Given the description of an element on the screen output the (x, y) to click on. 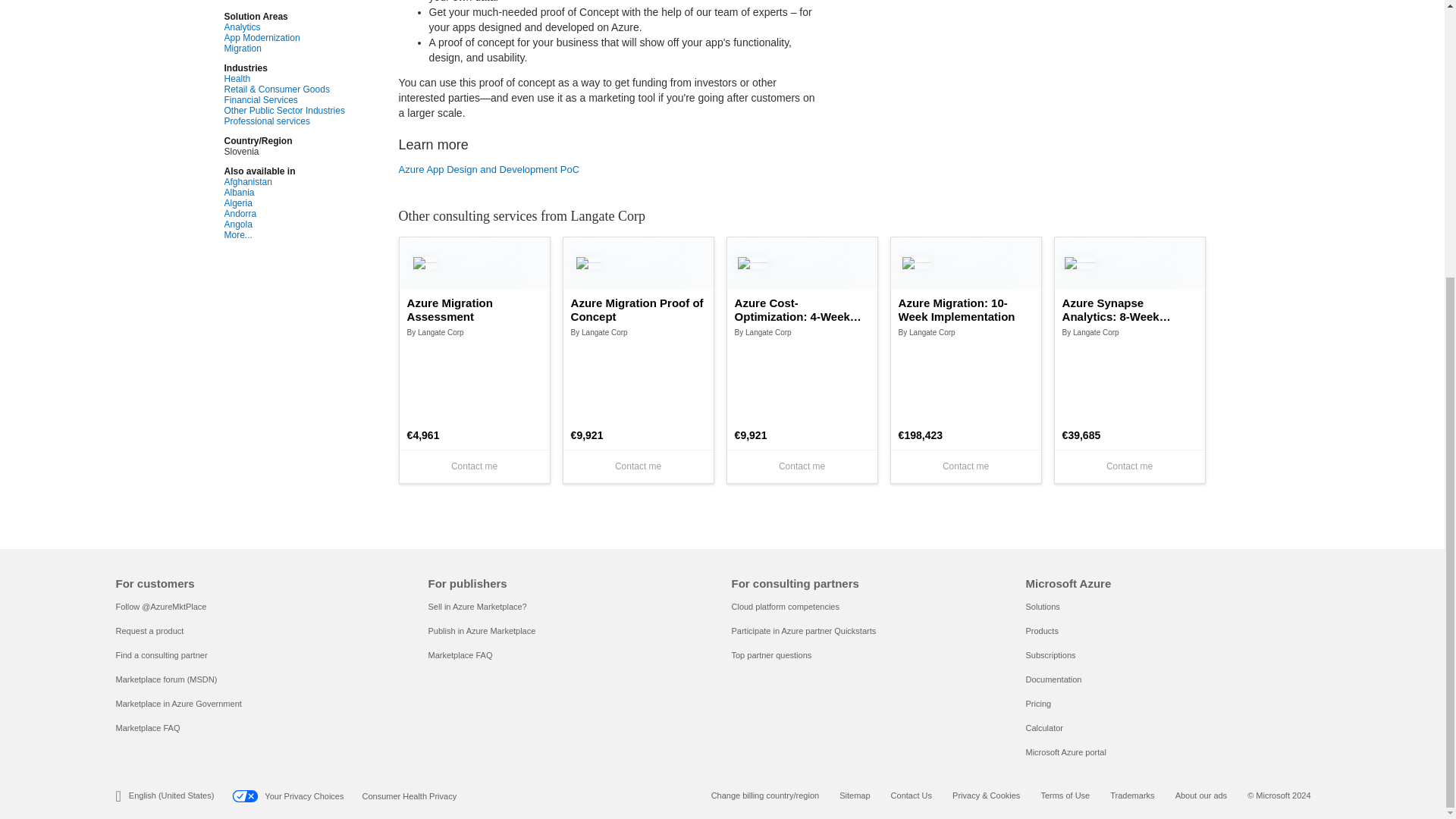
Azure Synapse Analytics: 8-Week Implementation (1129, 309)
Azure Migration: 10-Week Implementation (965, 309)
Azure Migration Assessment (474, 309)
Azure Cost-Optimization: 4-Week Implementation (802, 309)
Azure Migration Proof of Concept (638, 309)
